Given the description of an element on the screen output the (x, y) to click on. 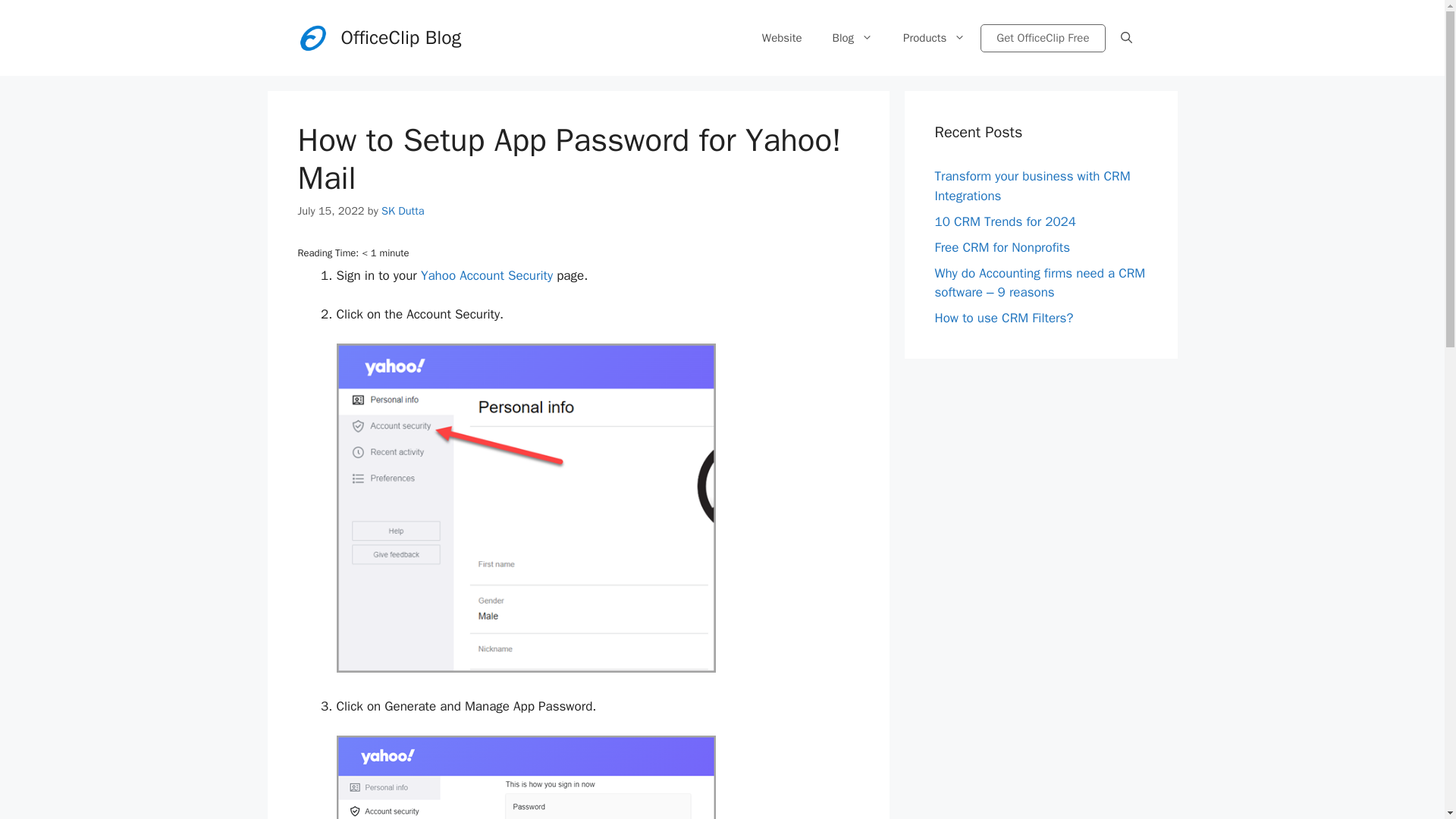
Blog (852, 37)
How to use CRM Filters? (1003, 317)
OfficeClip Blog (400, 37)
Get OfficeClip Free (1042, 38)
SK Dutta (403, 210)
Website (781, 37)
Transform your business with CRM Integrations (1031, 185)
10 CRM Trends for 2024 (1004, 221)
Free CRM for Nonprofits (1002, 247)
Products (933, 37)
